Given the description of an element on the screen output the (x, y) to click on. 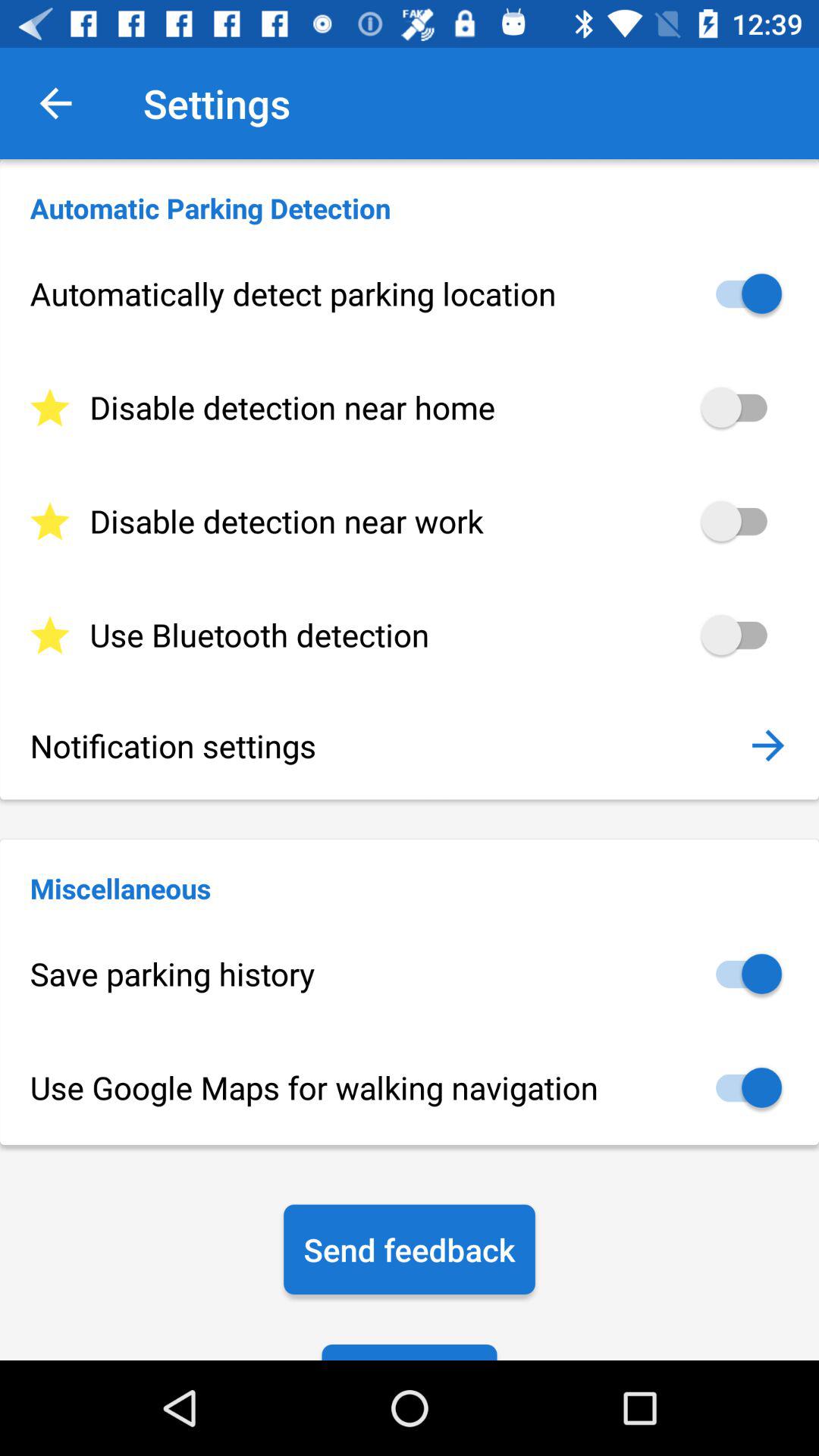
choose item below miscellaneous item (409, 973)
